Given the description of an element on the screen output the (x, y) to click on. 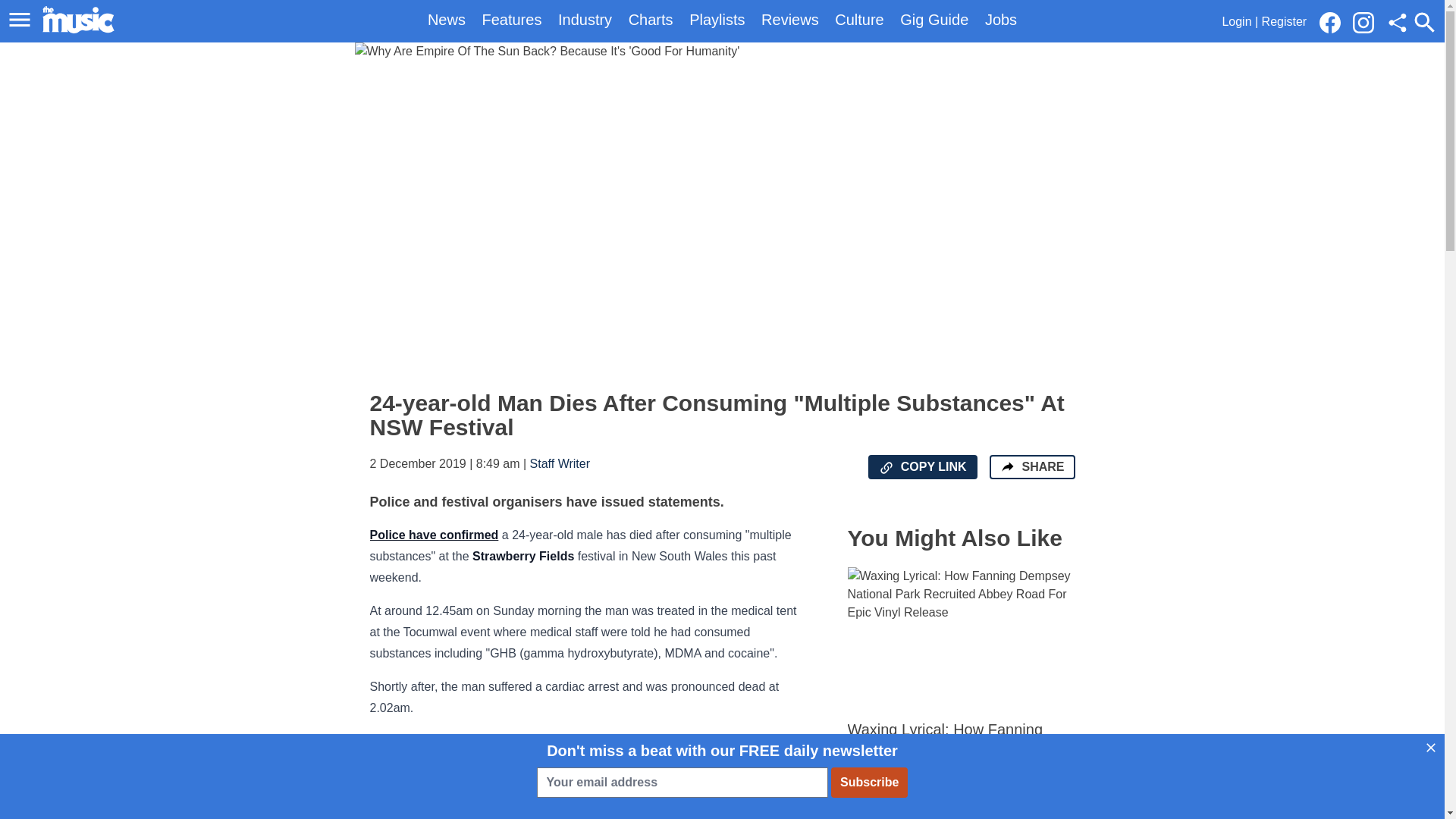
Login (1235, 21)
Industry (584, 19)
Staff Writer (559, 463)
Open the main menu (19, 19)
Gig Guide (933, 19)
Playlists (716, 19)
Jobs (1000, 19)
Open the main menu (22, 19)
Link to our Instagram (1363, 22)
Police have confirmed (434, 534)
Share the page (1007, 466)
Reviews (789, 19)
Copy the page URL COPY LINK (921, 467)
Culture (858, 19)
Features (511, 19)
